Given the description of an element on the screen output the (x, y) to click on. 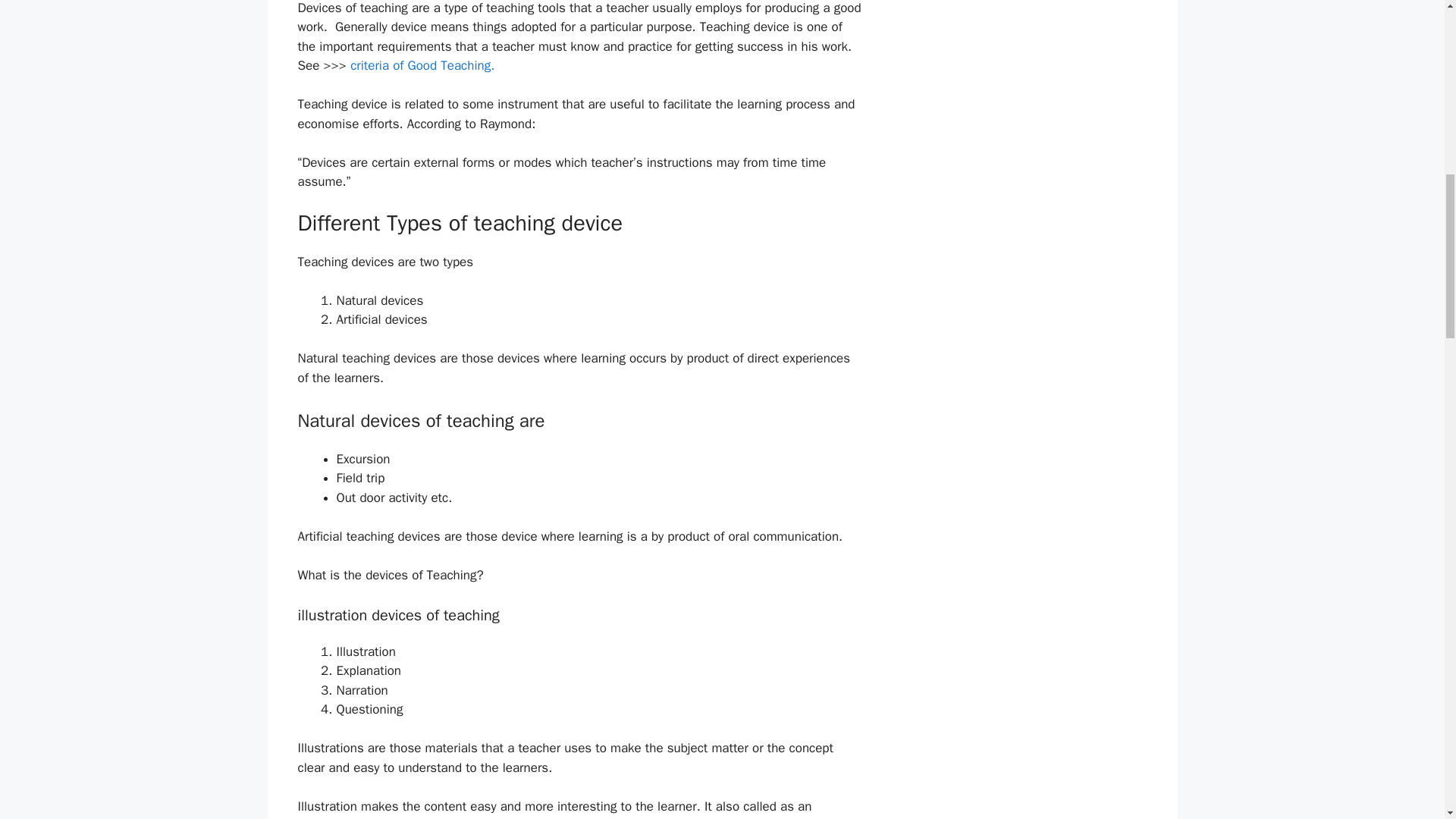
criteria of Good Teaching. (422, 65)
